Given the description of an element on the screen output the (x, y) to click on. 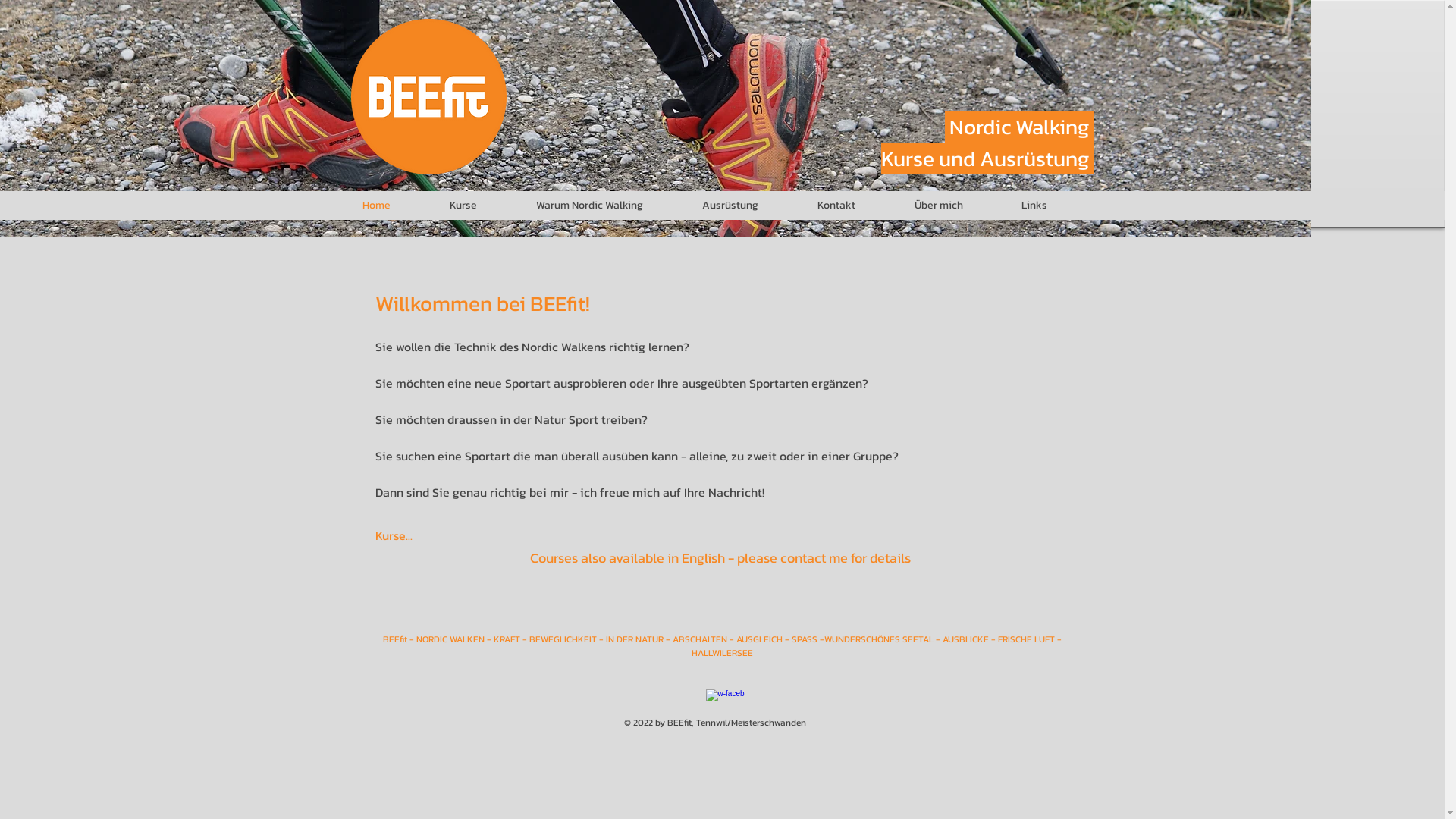
Kontakt Element type: text (853, 205)
Logo BEEfit.jpg Element type: hover (427, 96)
Kurse Element type: text (481, 205)
Warum Nordic Walking Element type: text (607, 205)
Kurse... Element type: text (392, 535)
Home Element type: text (393, 205)
Links Element type: text (1052, 205)
